Given the description of an element on the screen output the (x, y) to click on. 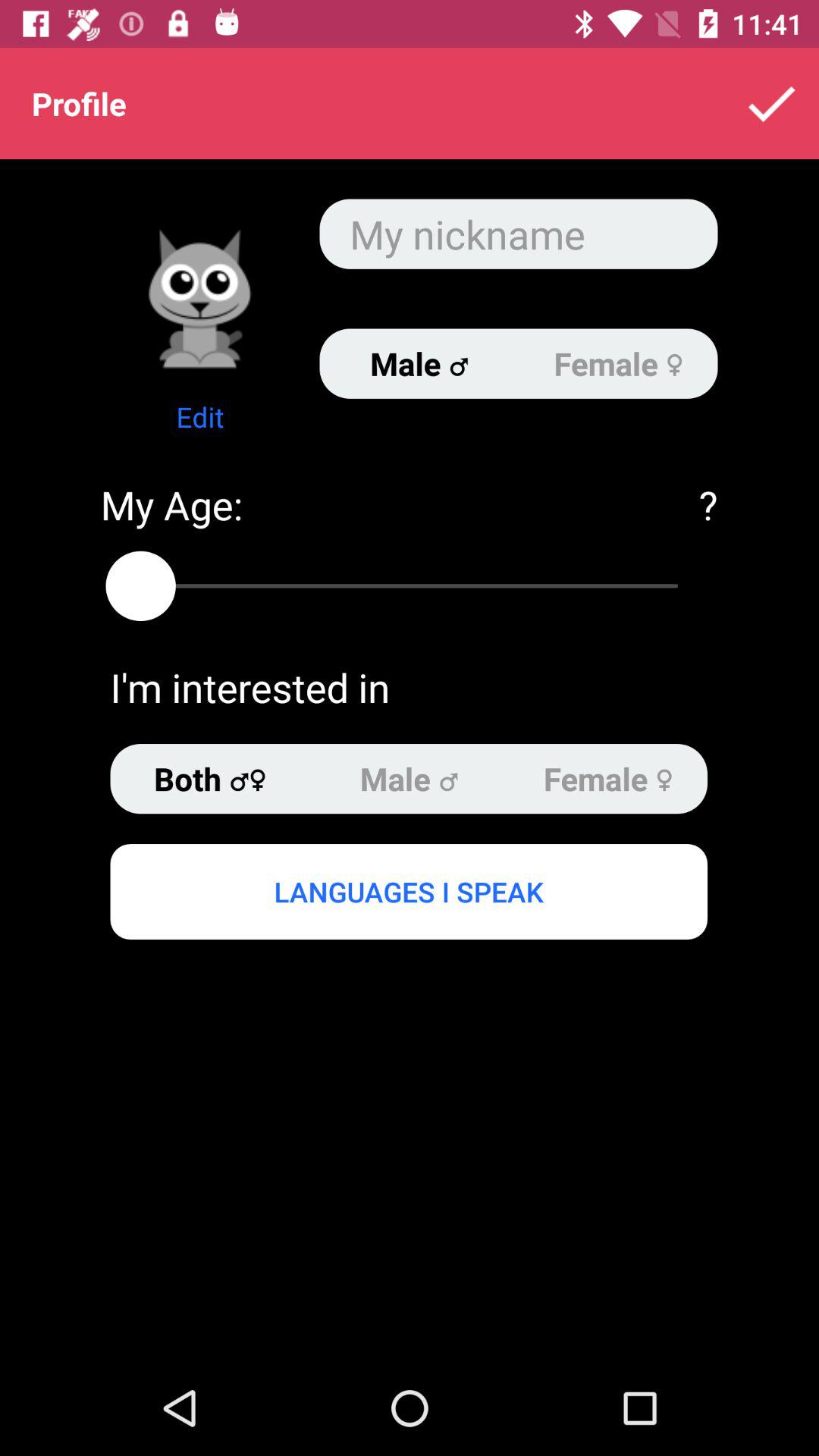
tap the languages i speak (408, 891)
